Given the description of an element on the screen output the (x, y) to click on. 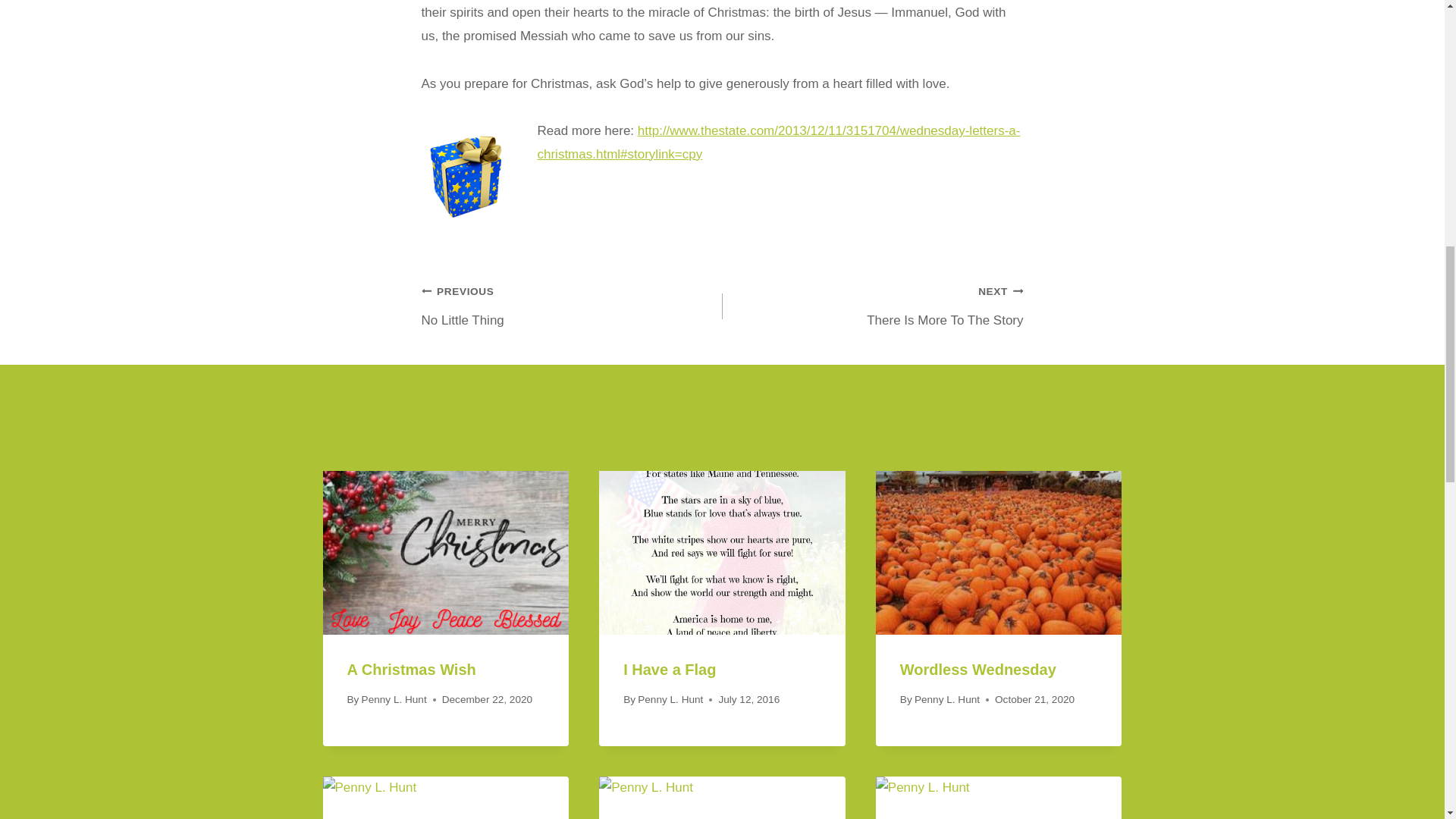
Penny L. Hunt (872, 306)
Penny L. Hunt (946, 699)
A Christmas Wish (572, 306)
I Have a Flag (393, 699)
Penny L. Hunt (411, 669)
Wordless Wednesday (669, 669)
